Given the description of an element on the screen output the (x, y) to click on. 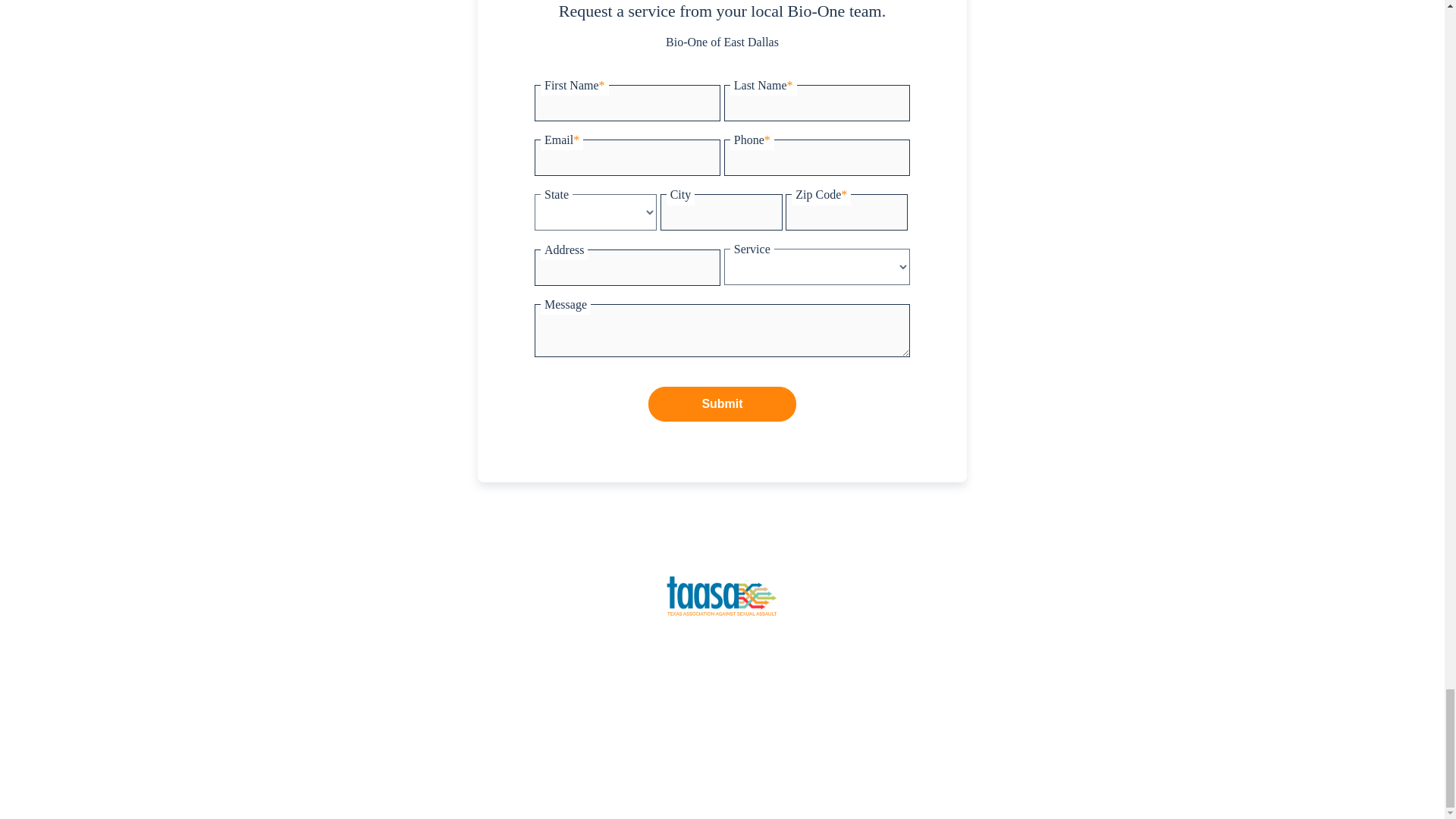
Submit (721, 403)
